Given the description of an element on the screen output the (x, y) to click on. 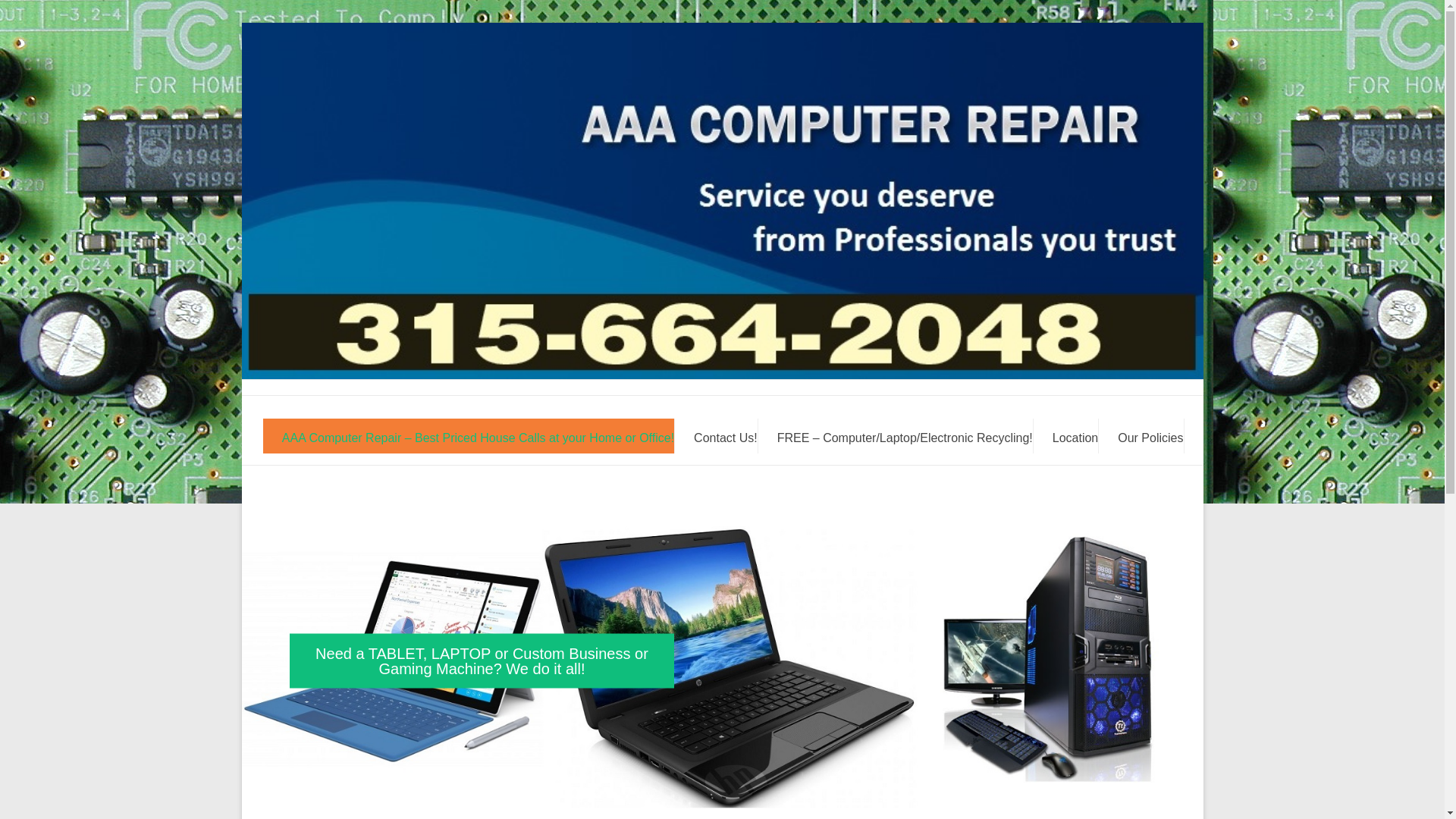
Our Policies (1150, 435)
Location (1075, 435)
Contact Us! (725, 435)
